Given the description of an element on the screen output the (x, y) to click on. 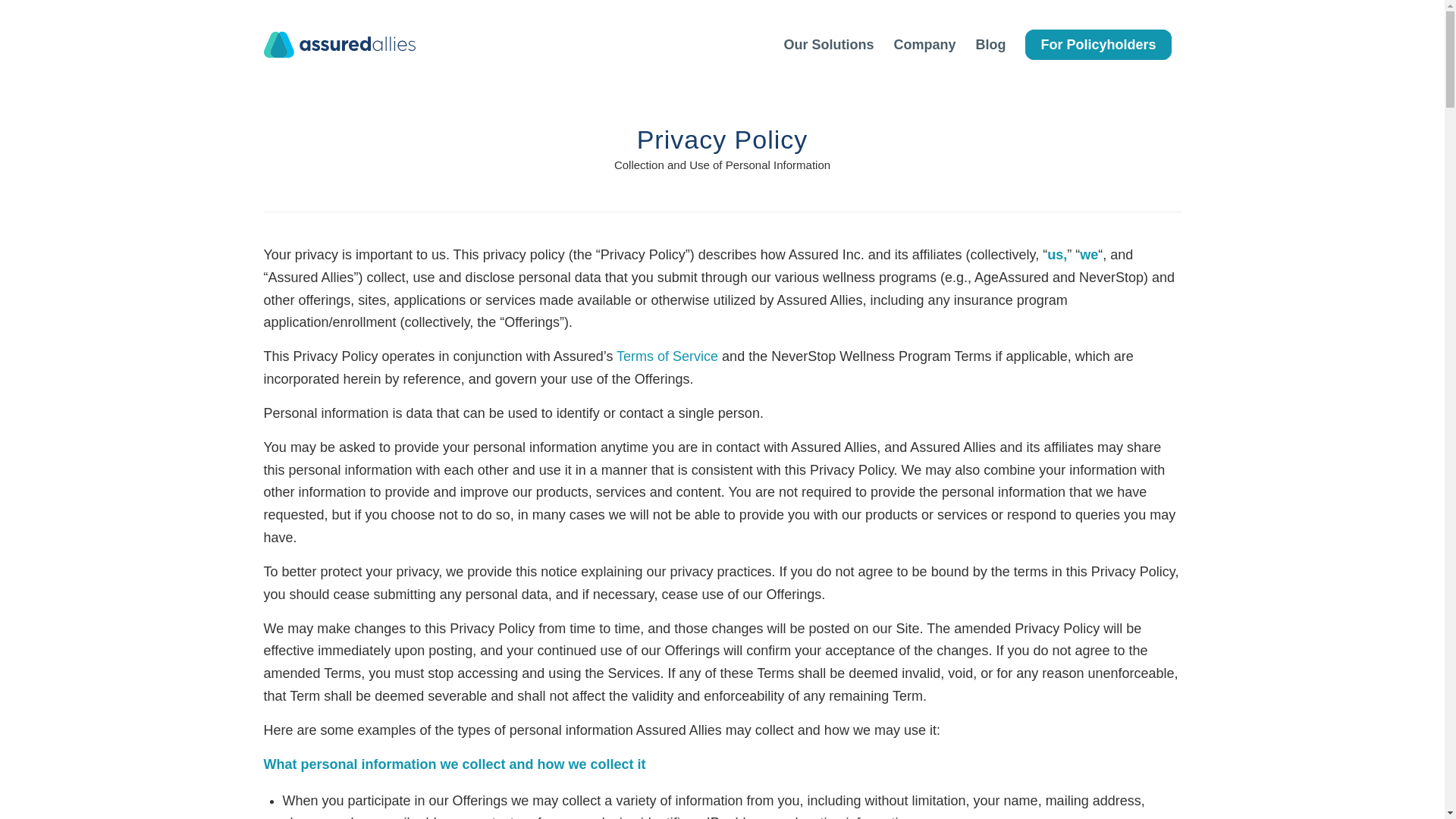
Terms of Service (666, 355)
Our Solutions (828, 44)
Company (924, 44)
For Policyholders (1097, 44)
assured-logo-dark (338, 44)
